Given the description of an element on the screen output the (x, y) to click on. 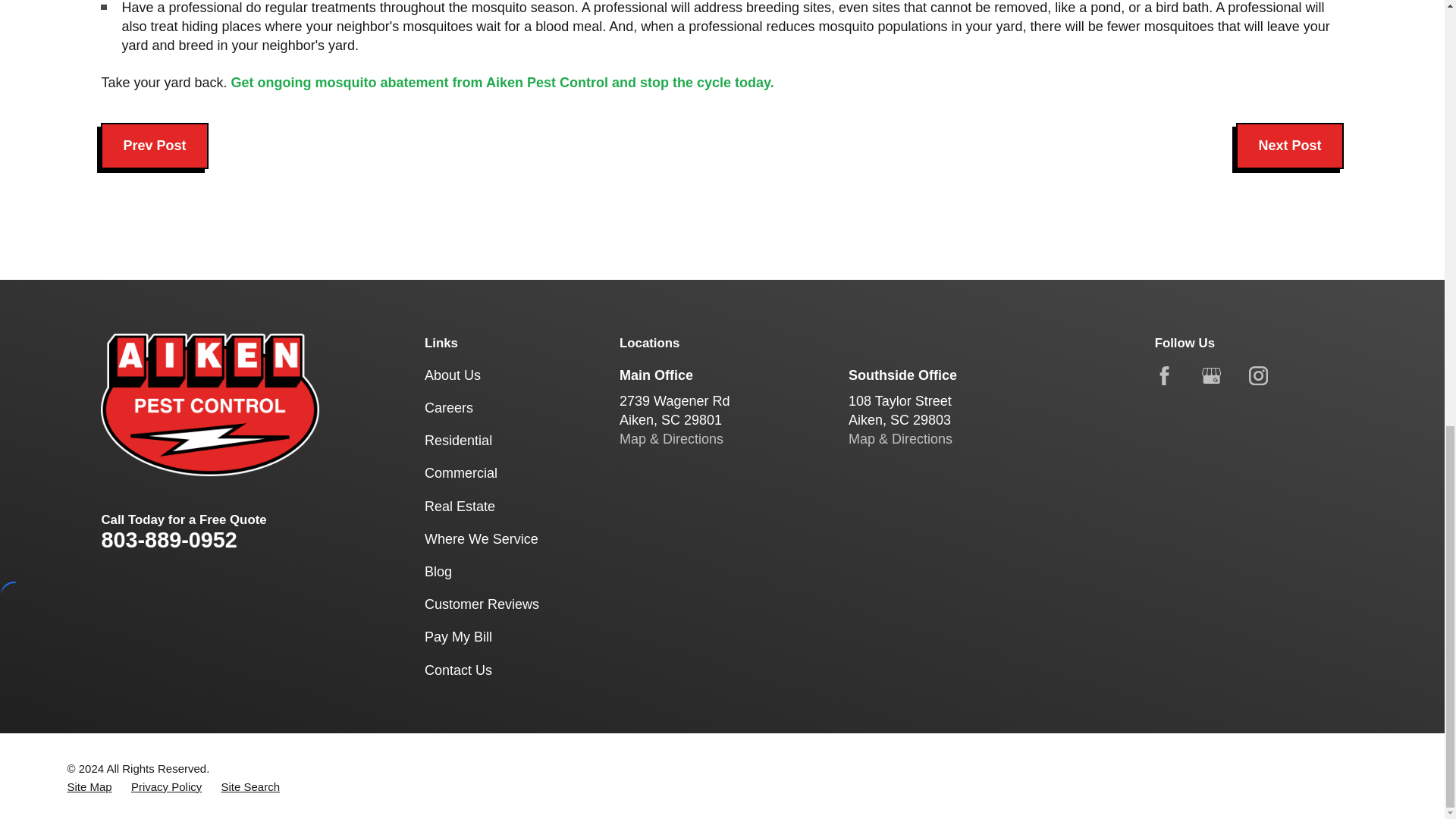
Facebook (1163, 375)
Home (209, 404)
Instagram (1258, 375)
Google Business Profile (1211, 375)
